Given the description of an element on the screen output the (x, y) to click on. 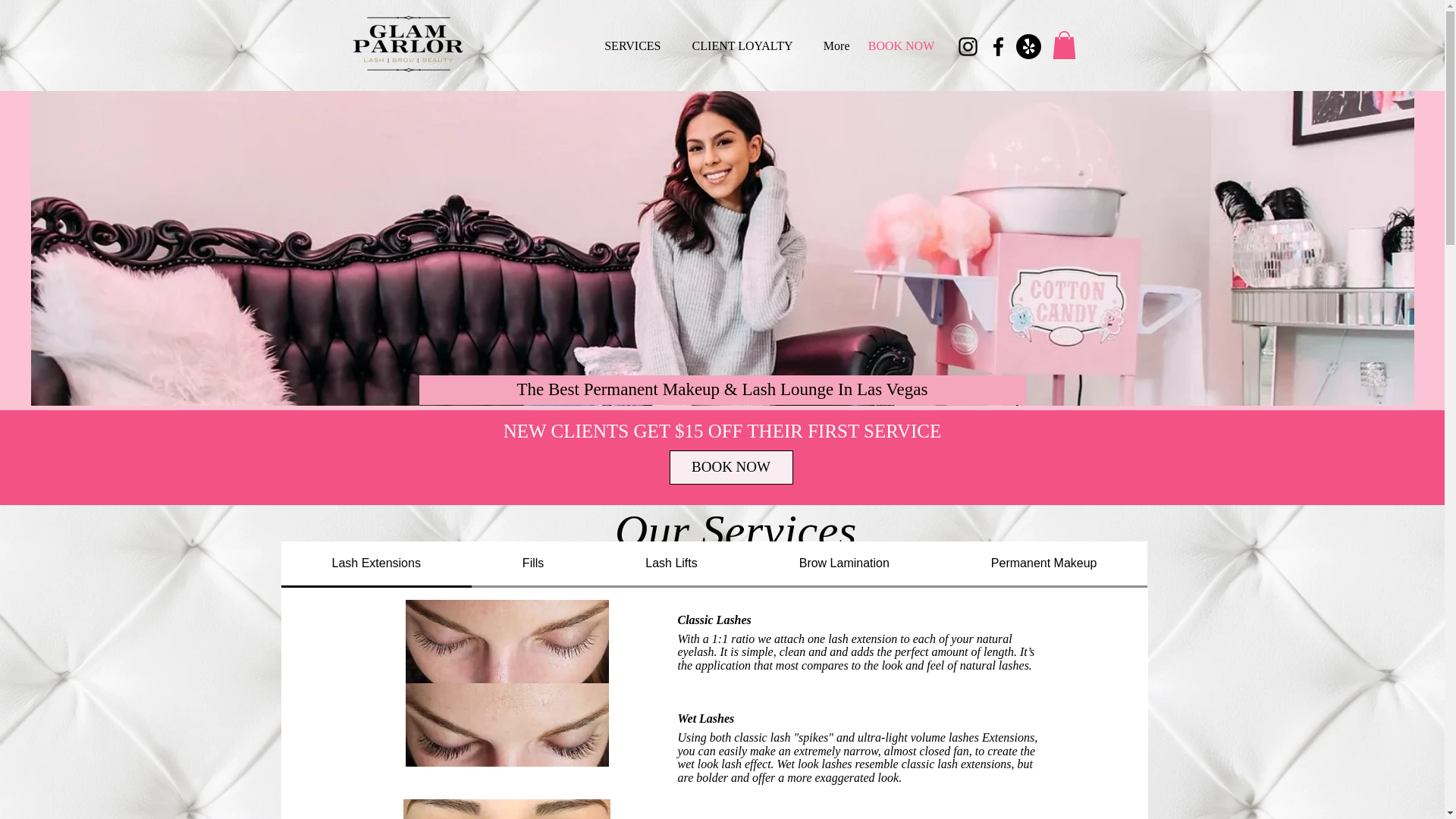
HOME (555, 45)
SERVICES (629, 45)
CLIENT LOYALTY (737, 45)
BOOK NOW (730, 467)
BOOK NOW (901, 46)
